Given the description of an element on the screen output the (x, y) to click on. 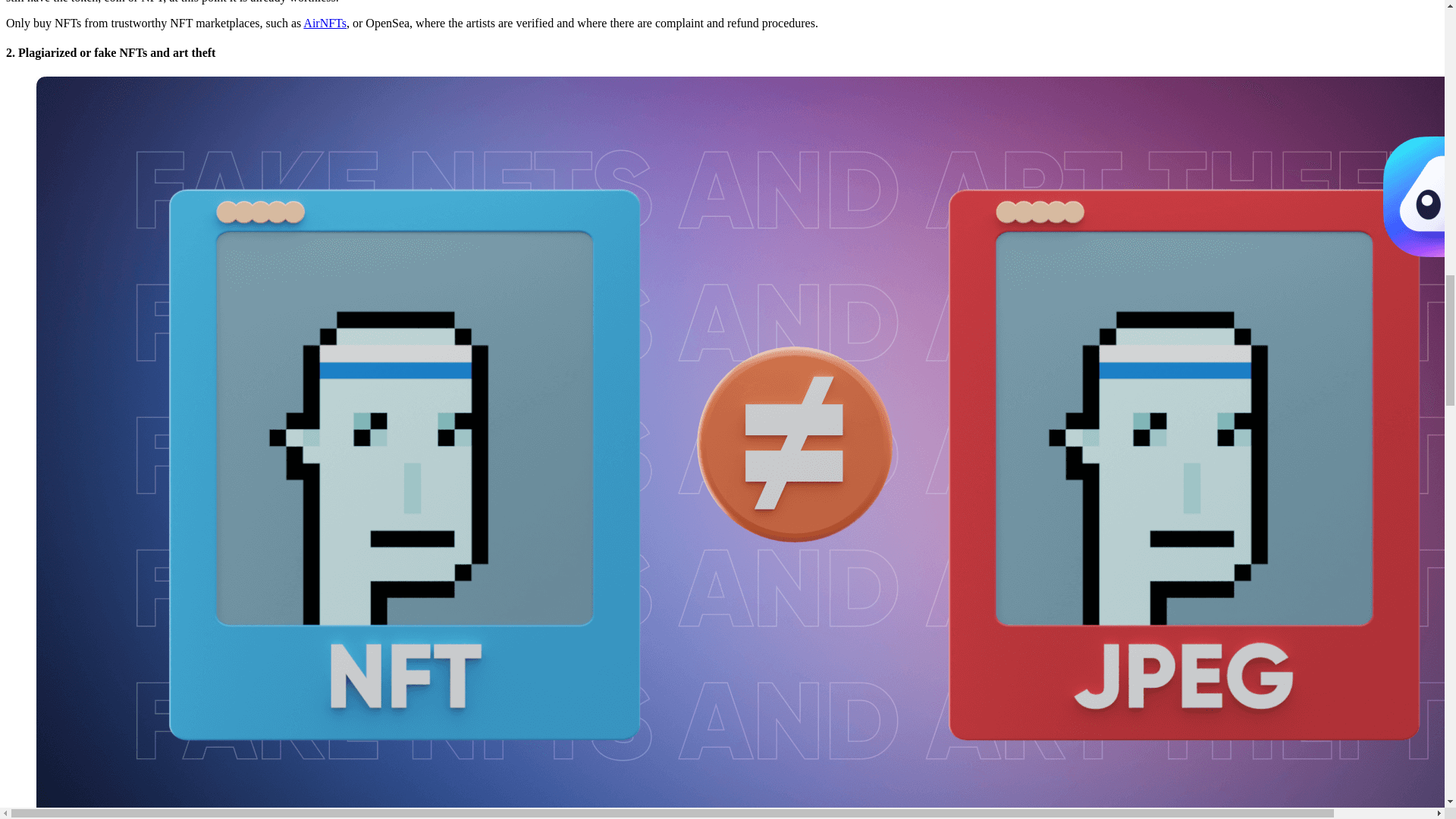
AirNFTs (324, 22)
